Given the description of an element on the screen output the (x, y) to click on. 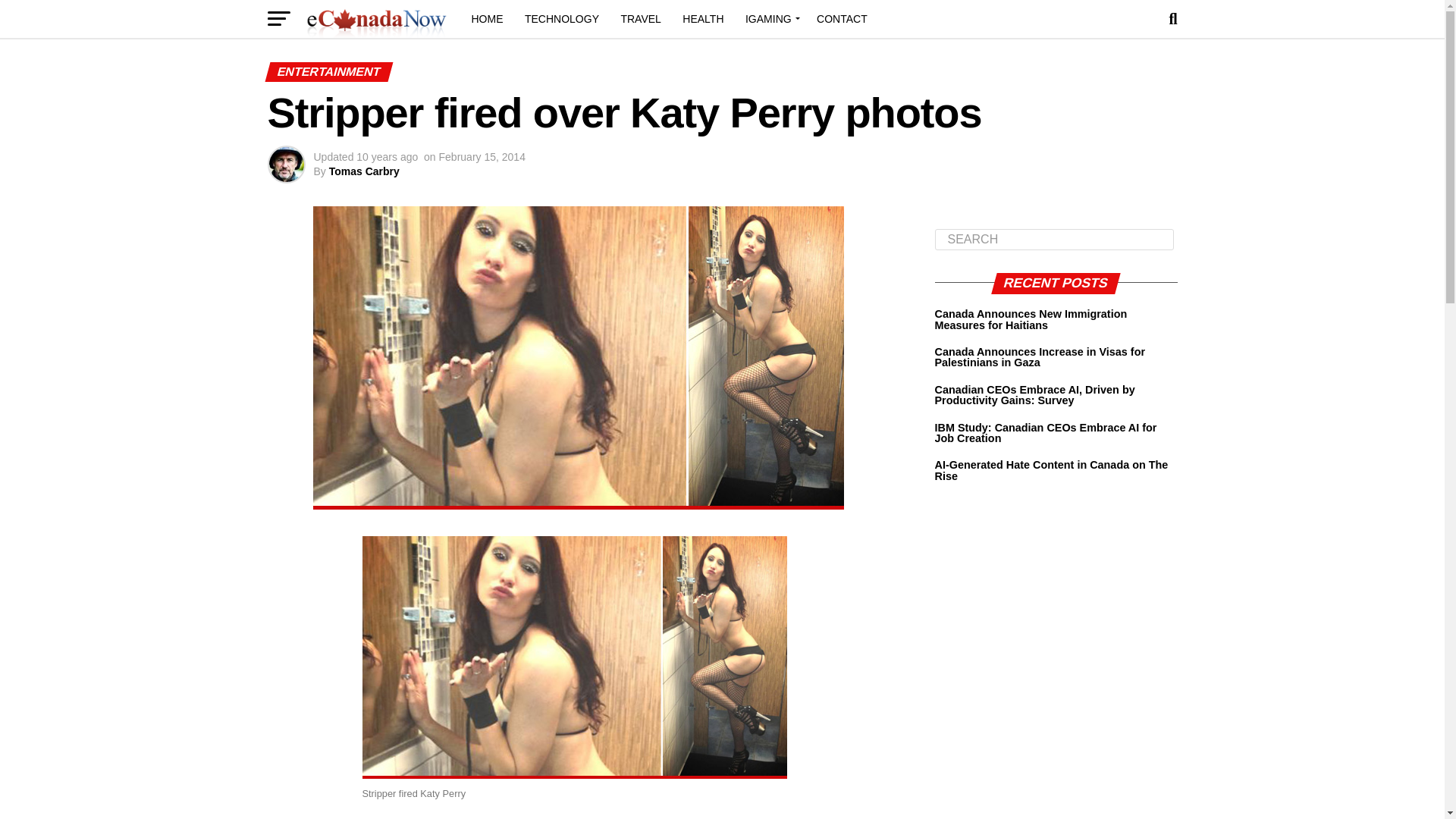
TRAVEL (640, 18)
HEALTH (702, 18)
HOME (487, 18)
IGAMING (770, 18)
Posts by Tomas Carbry (363, 171)
TECHNOLOGY (561, 18)
Search (1053, 239)
